Given the description of an element on the screen output the (x, y) to click on. 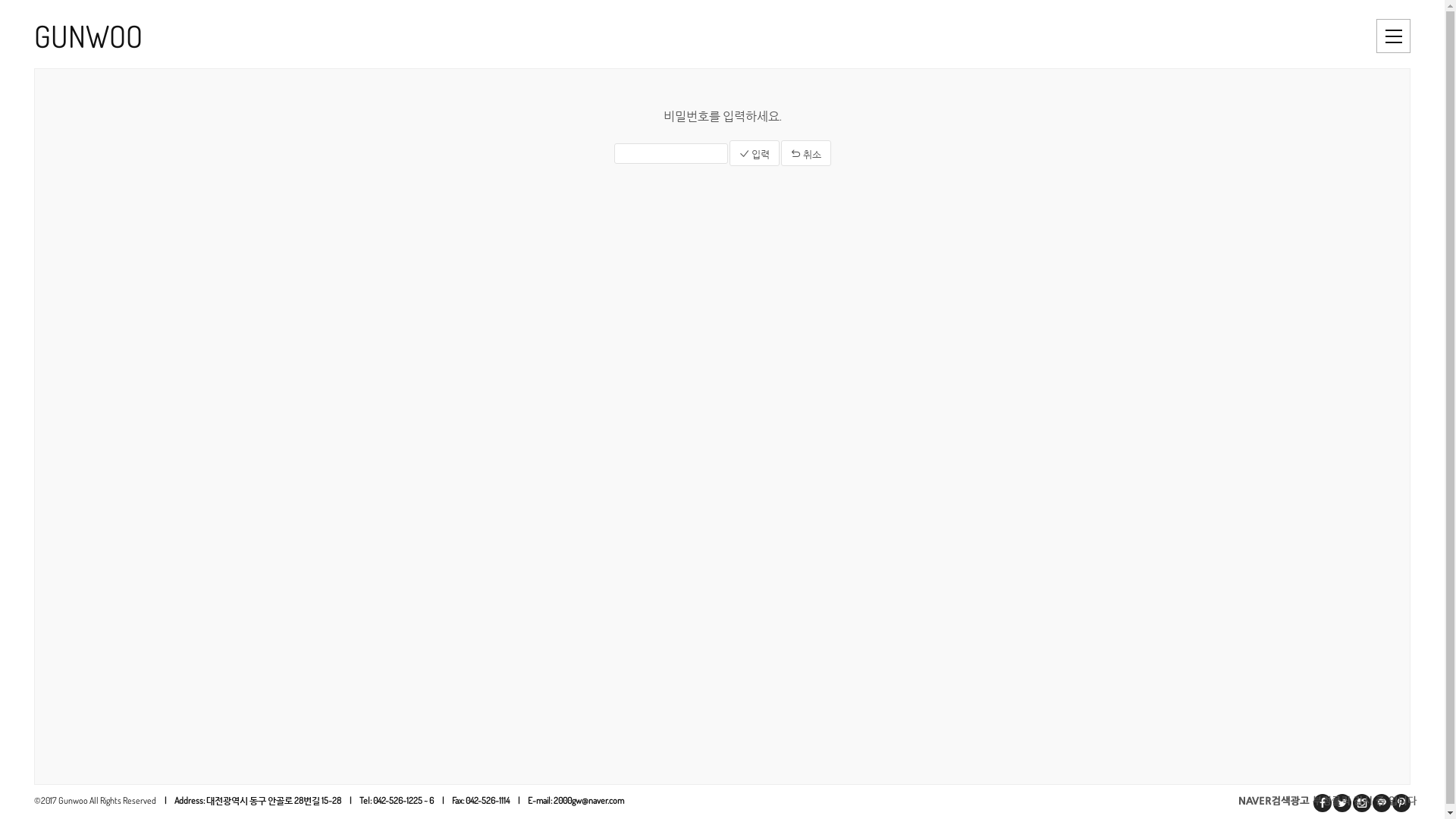
GUNWOO Element type: text (359, 35)
MENU
-- Element type: text (1393, 35)
